Given the description of an element on the screen output the (x, y) to click on. 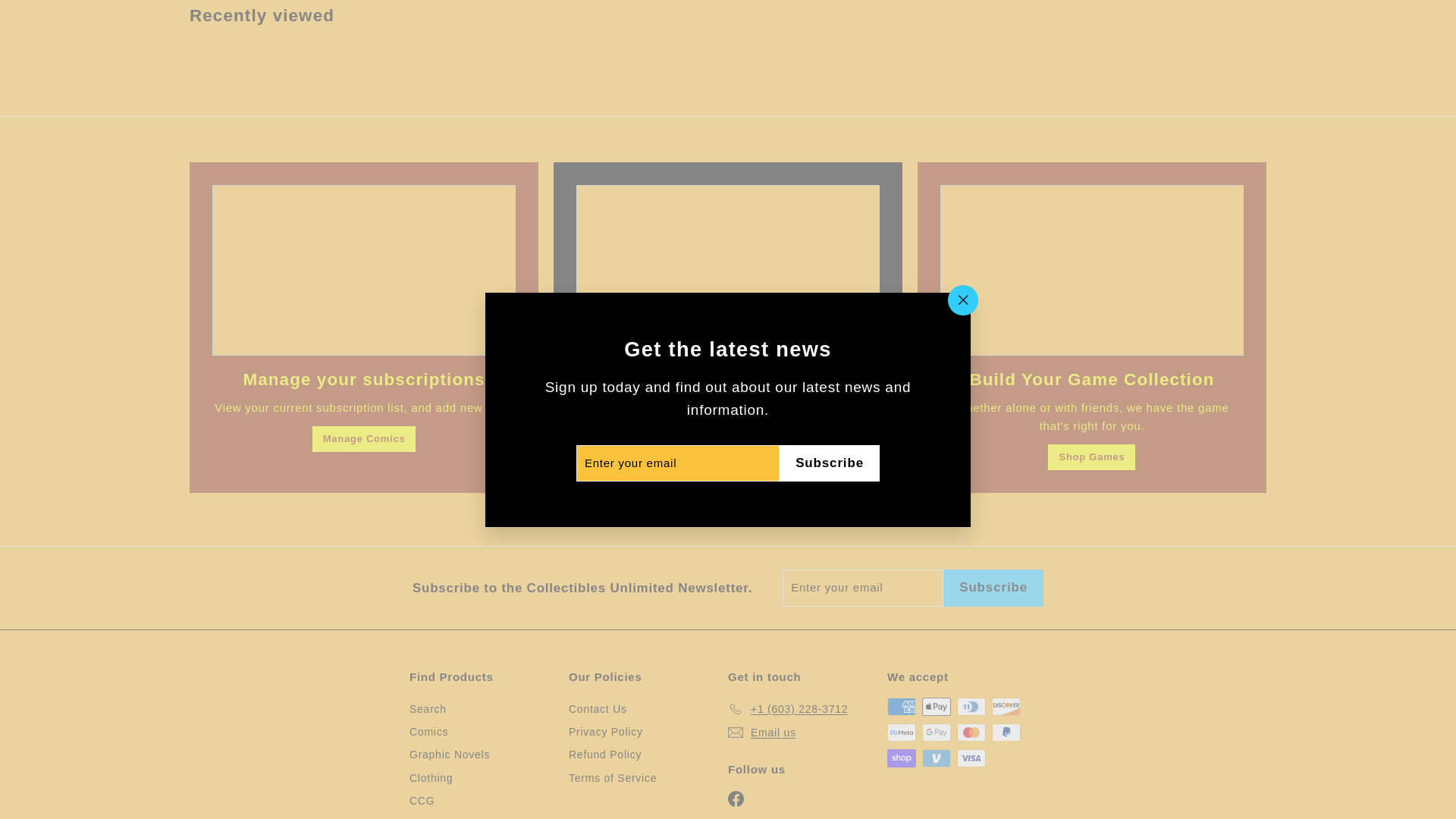
Mastercard (970, 732)
Apple Pay (935, 706)
Discover (1005, 706)
Shop Pay (900, 758)
Meta Pay (900, 732)
Visa (970, 758)
American Express (900, 706)
Google Pay (935, 732)
Venmo (935, 758)
PayPal (1005, 732)
Diners Club (970, 706)
